Given the description of an element on the screen output the (x, y) to click on. 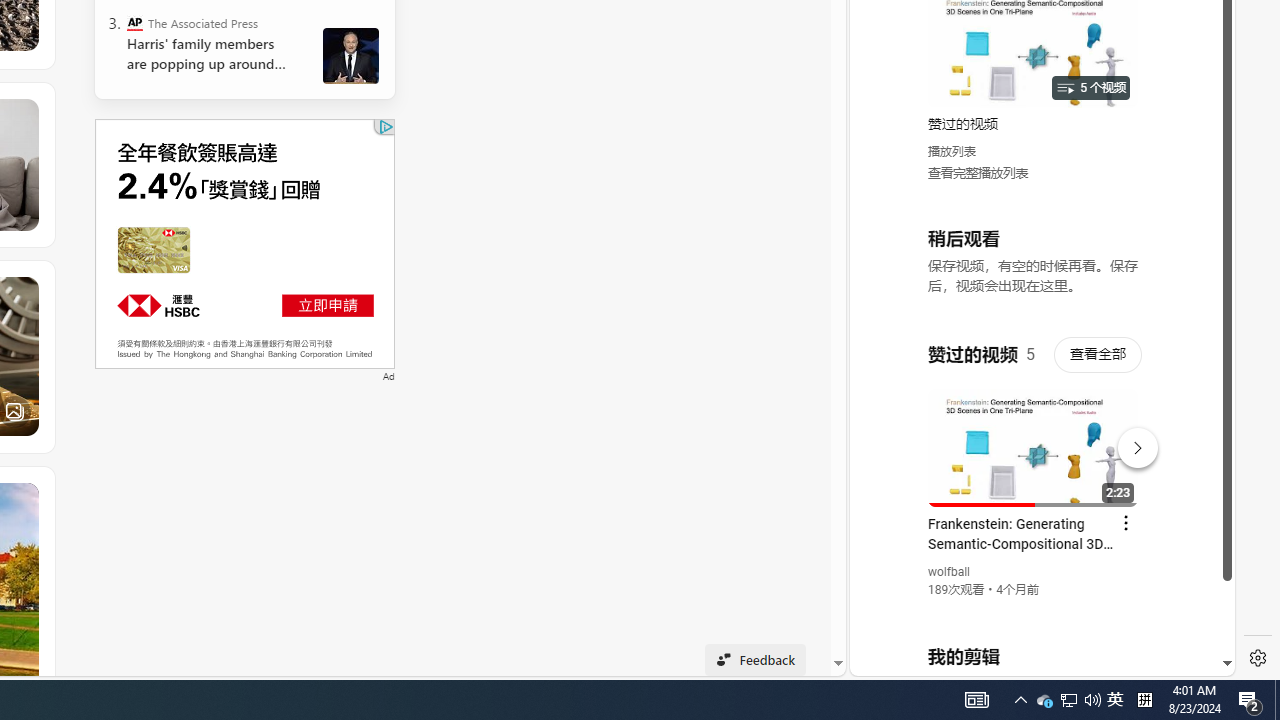
Class: dict_pnIcon rms_img (1028, 660)
